Given the description of an element on the screen output the (x, y) to click on. 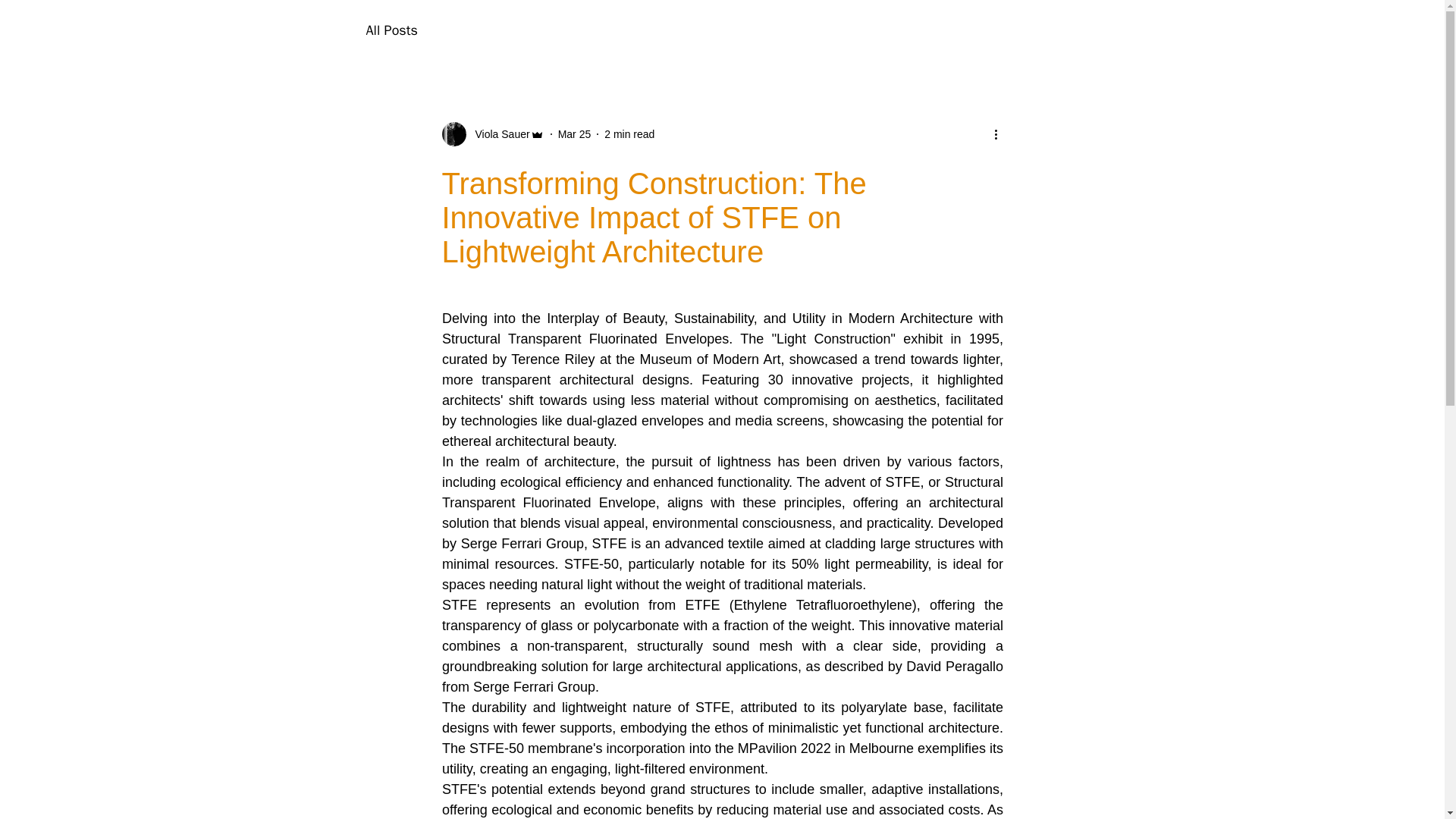
Mar 25 (574, 133)
Viola Sauer (492, 134)
Viola Sauer (497, 133)
All Posts (390, 30)
2 min read (628, 133)
